Given the description of an element on the screen output the (x, y) to click on. 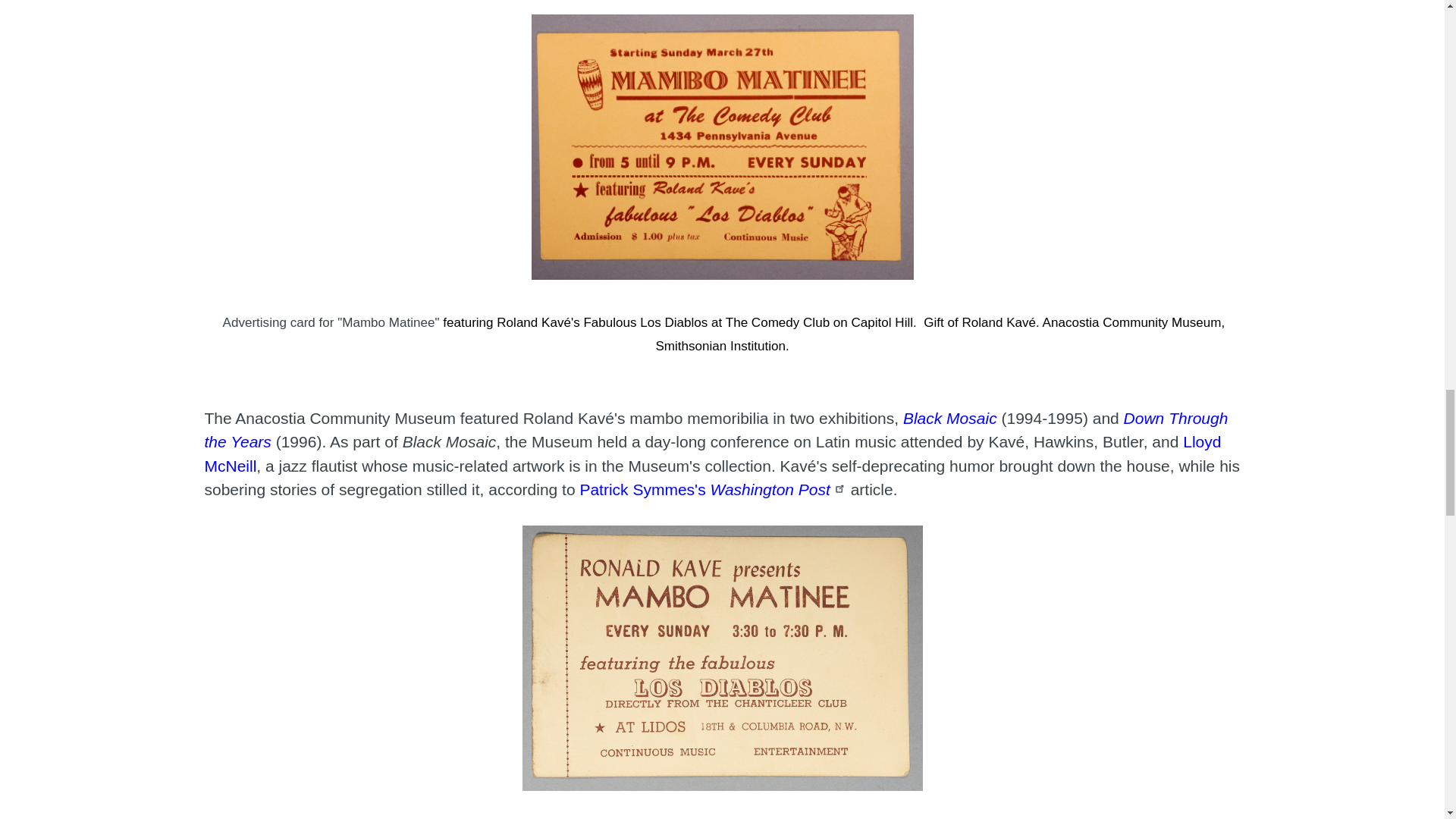
Lloyd McNeill (713, 454)
Brown advertising card for Mambo Matinee at The Comedy Club (330, 322)
Cha-Cha-Changes for Latin Music (712, 489)
